Given the description of an element on the screen output the (x, y) to click on. 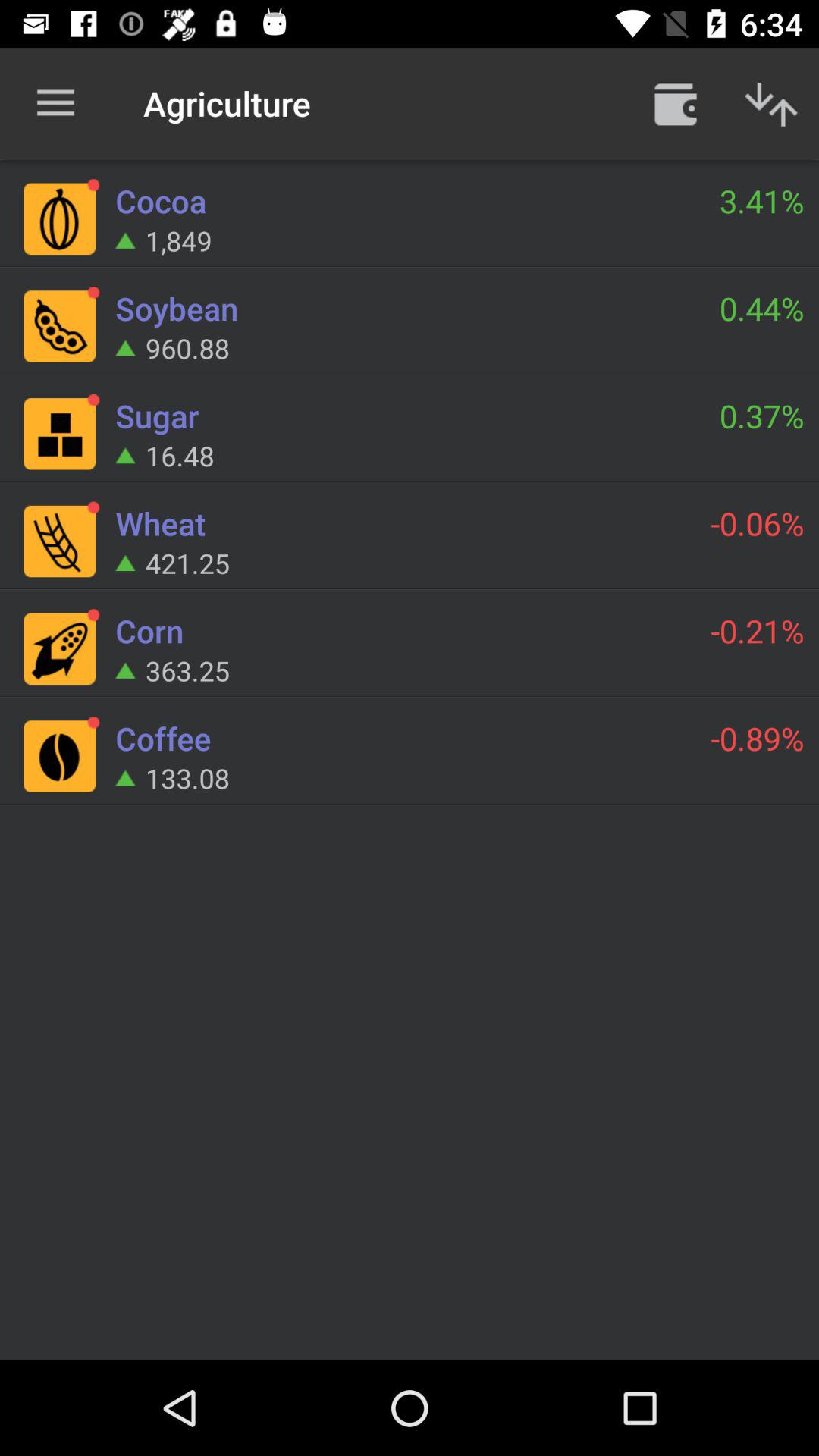
select app to the left of agriculture (55, 103)
